Given the description of an element on the screen output the (x, y) to click on. 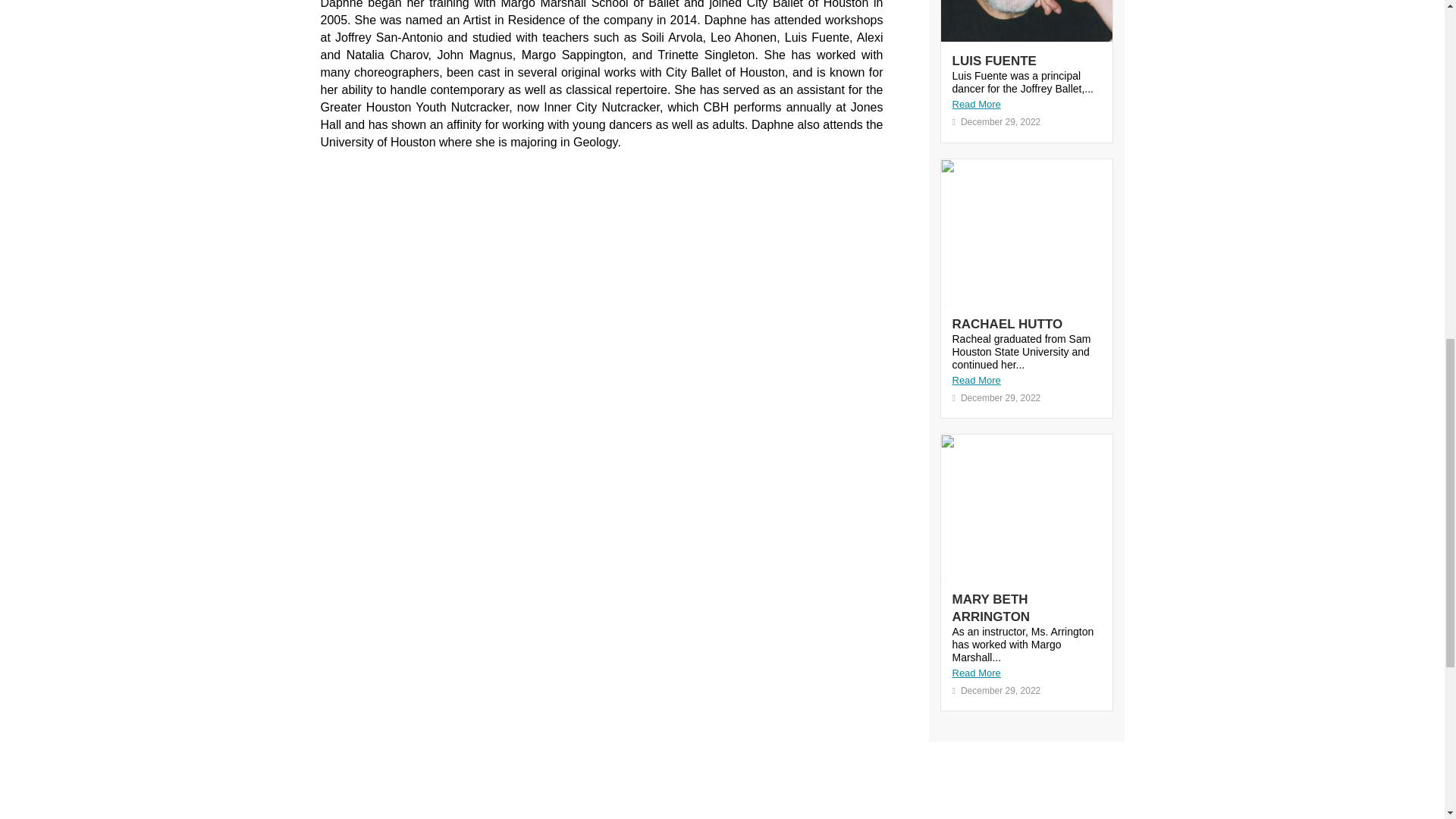
RACHAEL HUTTO (1007, 323)
Read More (1026, 104)
LUIS FUENTE (994, 60)
MARY BETH ARRINGTON (991, 607)
LUIS FUENTE (994, 60)
